Given the description of an element on the screen output the (x, y) to click on. 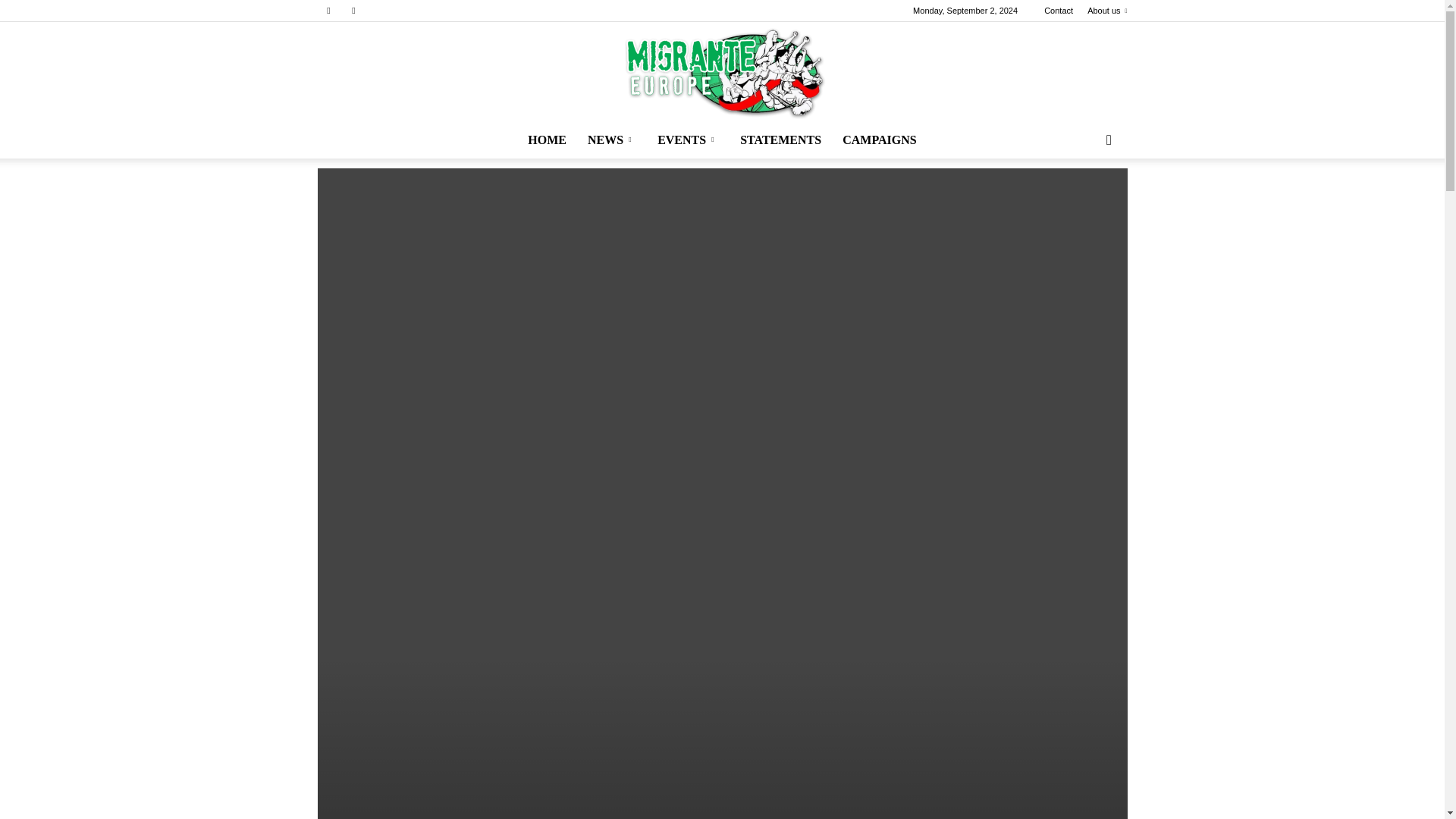
NEWS (611, 140)
HOME (546, 140)
Youtube (353, 10)
About us (1106, 10)
Contact (1058, 10)
Facebook (328, 10)
